Given the description of an element on the screen output the (x, y) to click on. 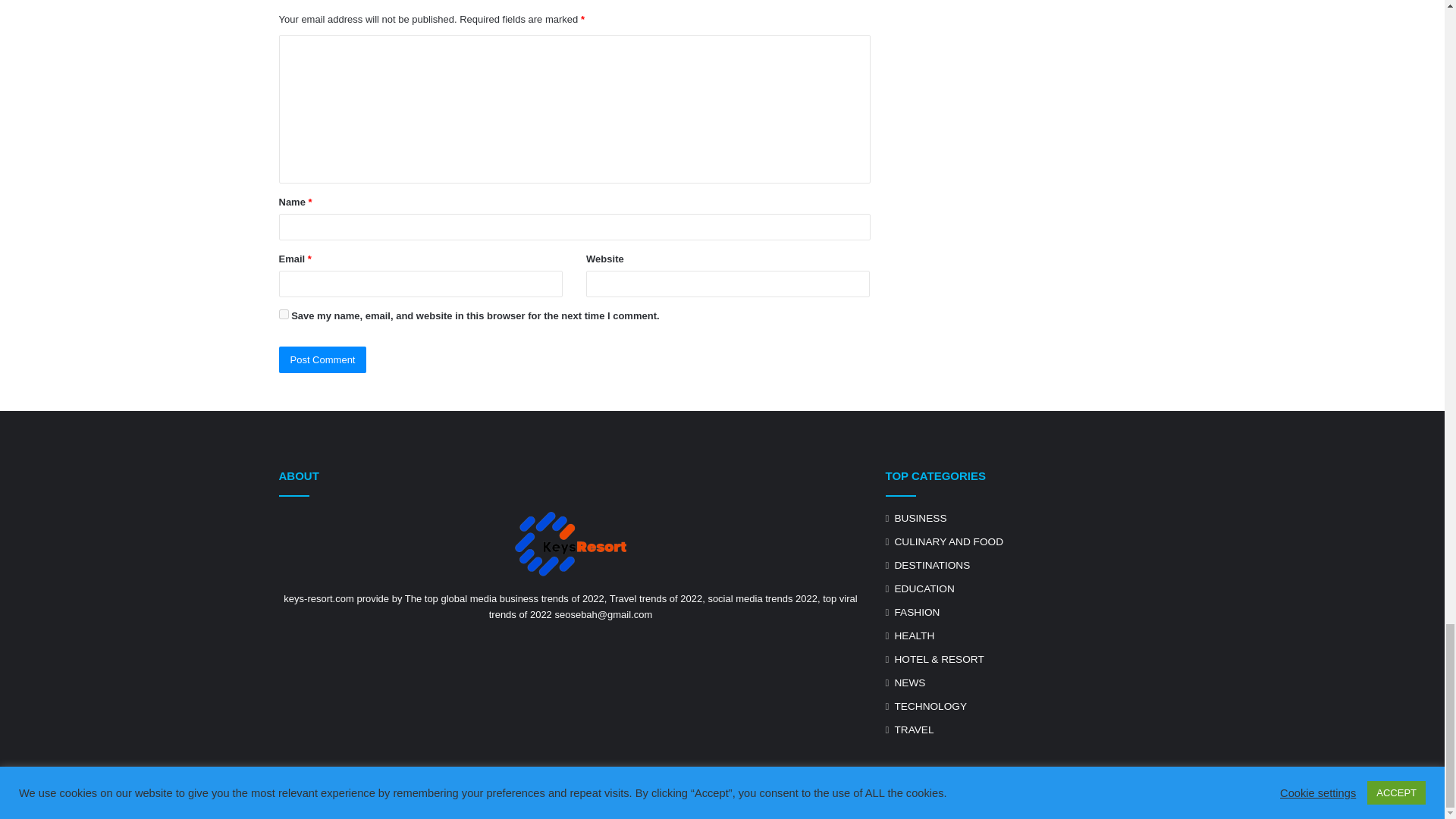
yes (283, 314)
Post Comment (322, 359)
